Given the description of an element on the screen output the (x, y) to click on. 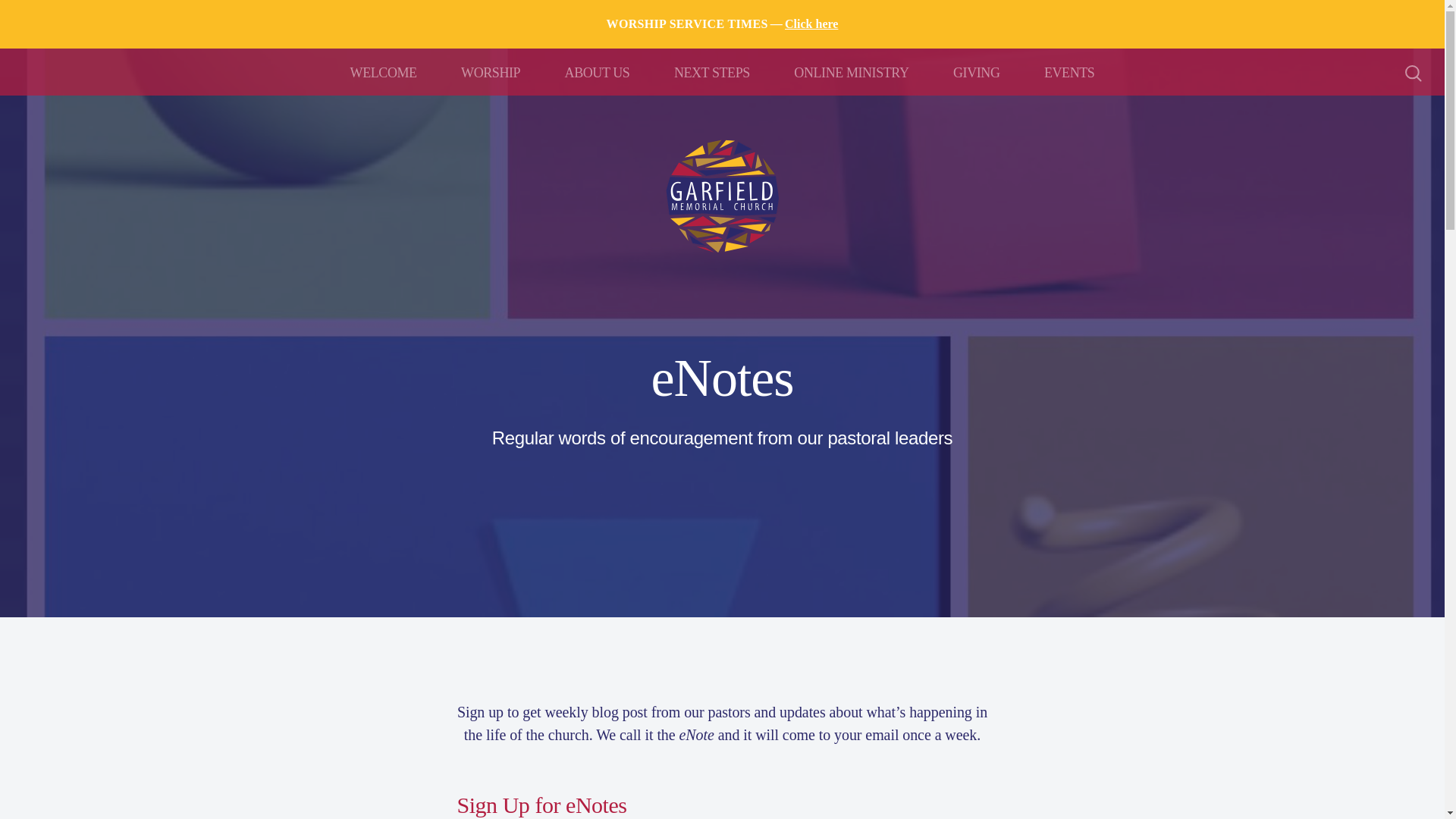
WELCOME (384, 71)
ONLINE MINISTRY (850, 71)
WORSHIP (490, 71)
NEXT STEPS (711, 71)
ABOUT US (597, 71)
